Given the description of an element on the screen output the (x, y) to click on. 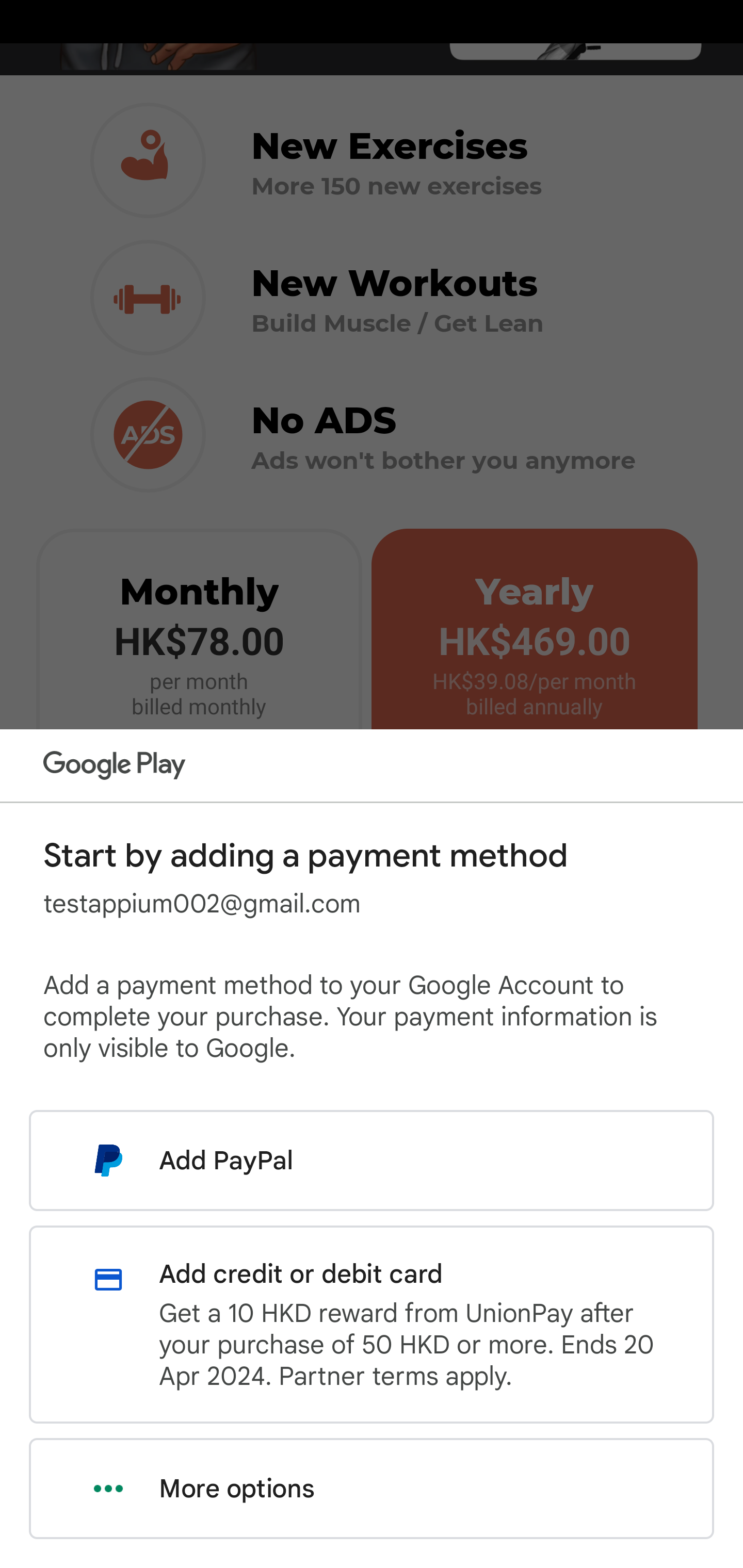
Add PayPal (371, 1160)
More options (371, 1488)
